Given the description of an element on the screen output the (x, y) to click on. 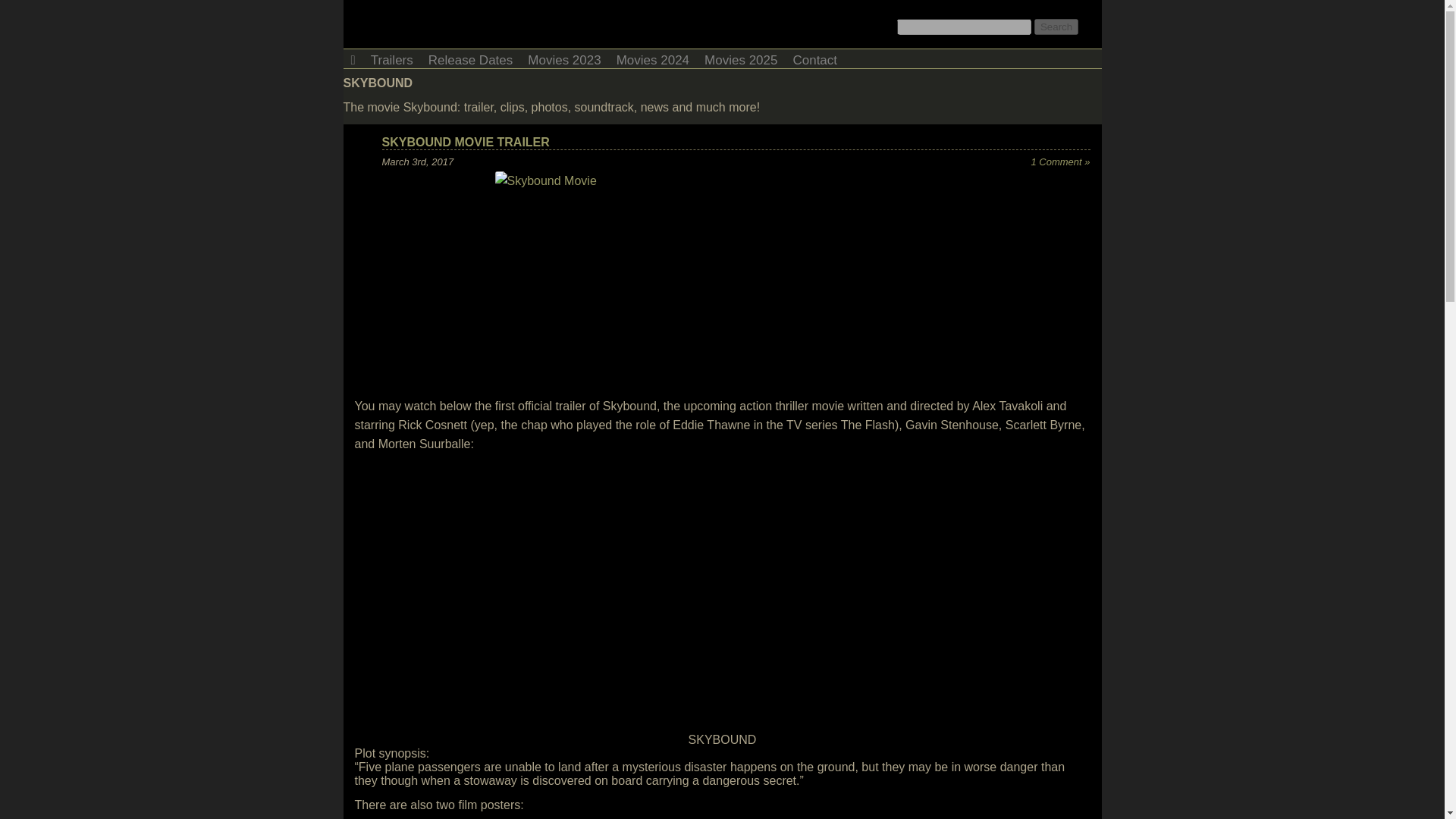
Contact (814, 58)
Movies 2023 (563, 58)
Search (1055, 26)
SKYBOUND MOVIE TRAILER (465, 141)
Search (1055, 26)
Movies 2025 (740, 58)
Release Dates (470, 58)
Movies 2024 (652, 58)
Home (352, 58)
Trailers (391, 58)
